Given the description of an element on the screen output the (x, y) to click on. 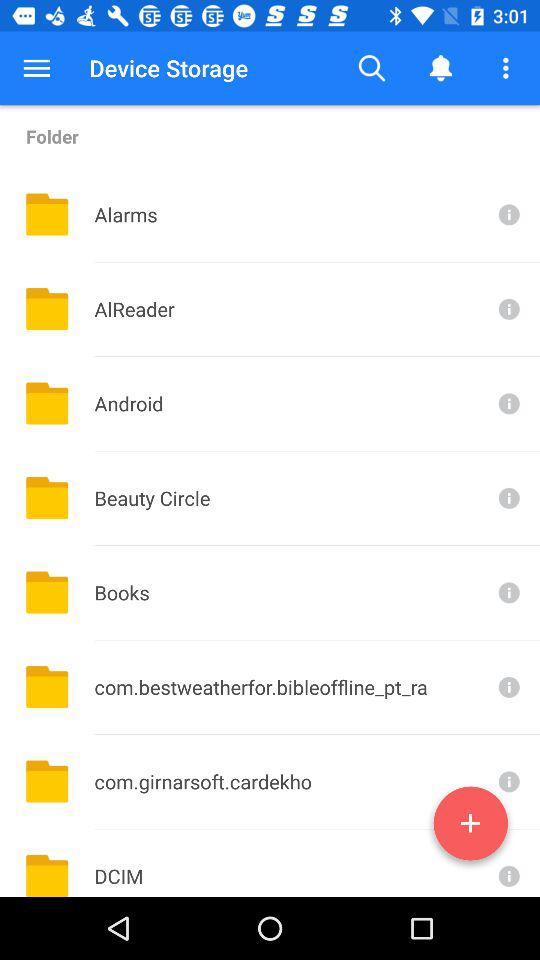
view info (507, 863)
